Given the description of an element on the screen output the (x, y) to click on. 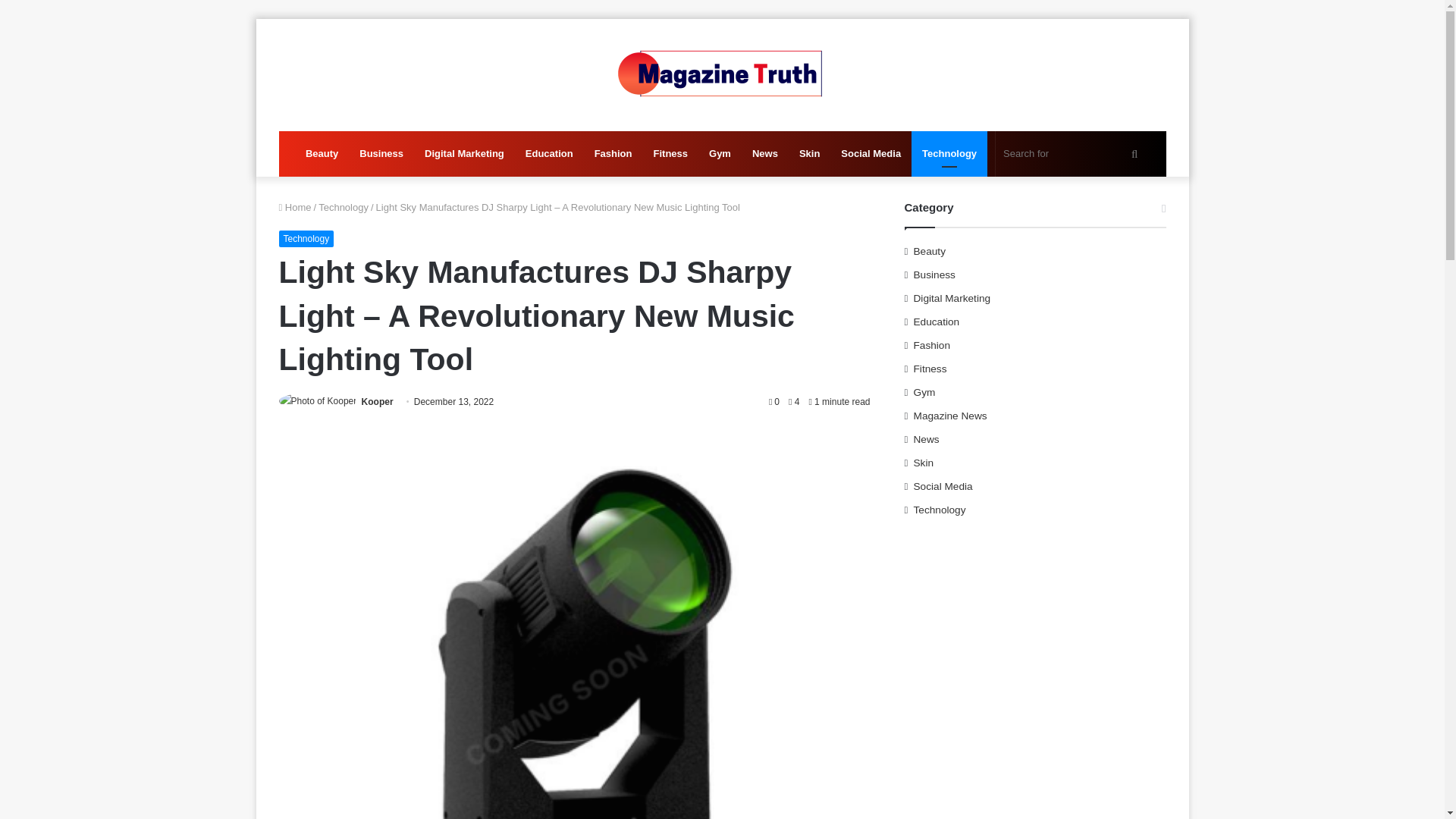
Technology (306, 238)
Kooper (377, 401)
News (765, 153)
Search for (1134, 153)
Business (381, 153)
Social Media (870, 153)
Fitness (670, 153)
Beauty (322, 153)
Search for (1072, 153)
Magazine Truth (721, 74)
Skin (809, 153)
Home (295, 206)
Education (549, 153)
Fashion (613, 153)
Digital Marketing (464, 153)
